Given the description of an element on the screen output the (x, y) to click on. 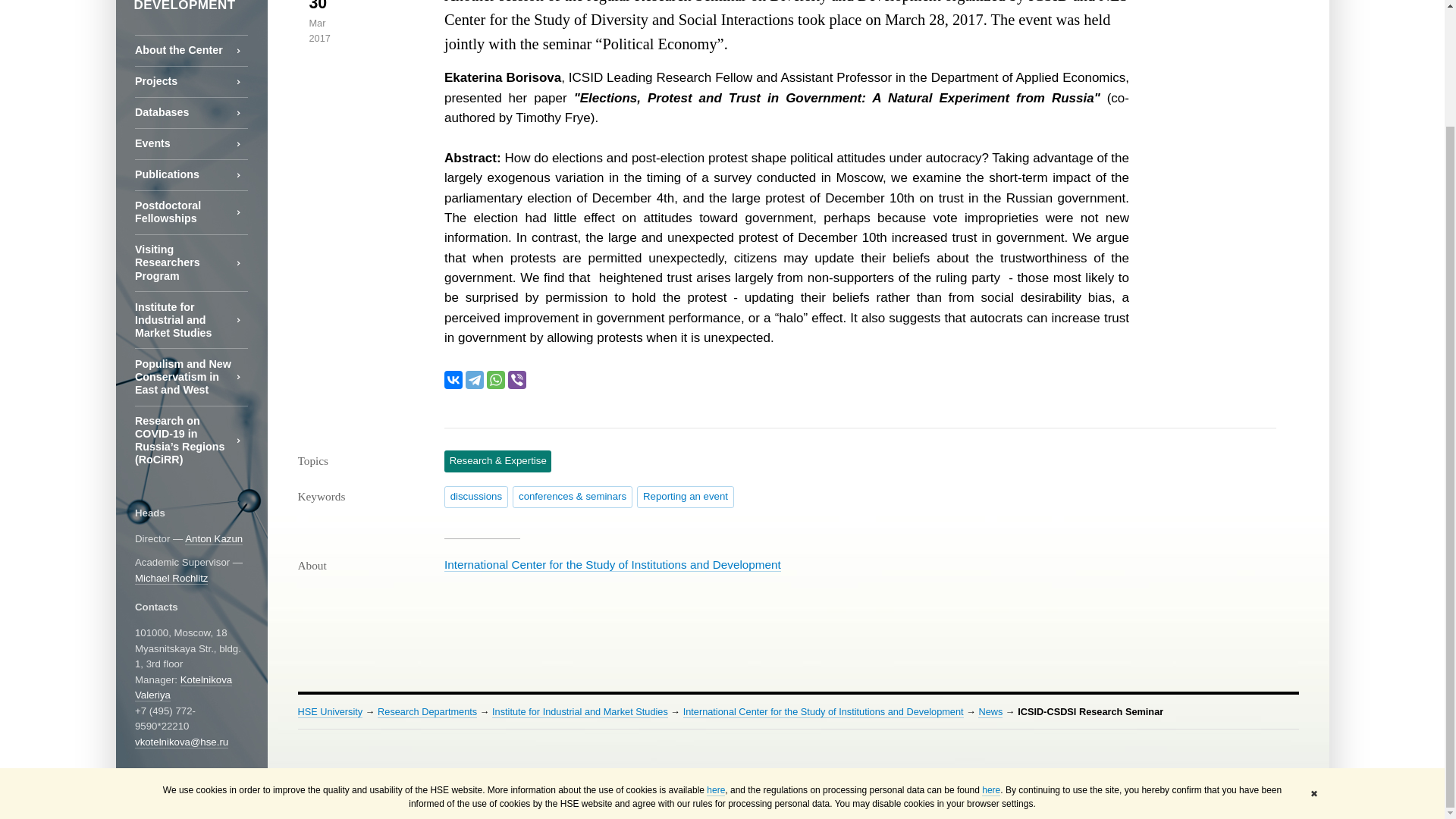
Telegram (474, 380)
here (990, 651)
WhatsApp (495, 380)
VKontakte (453, 380)
Viber (516, 380)
here (715, 651)
